Given the description of an element on the screen output the (x, y) to click on. 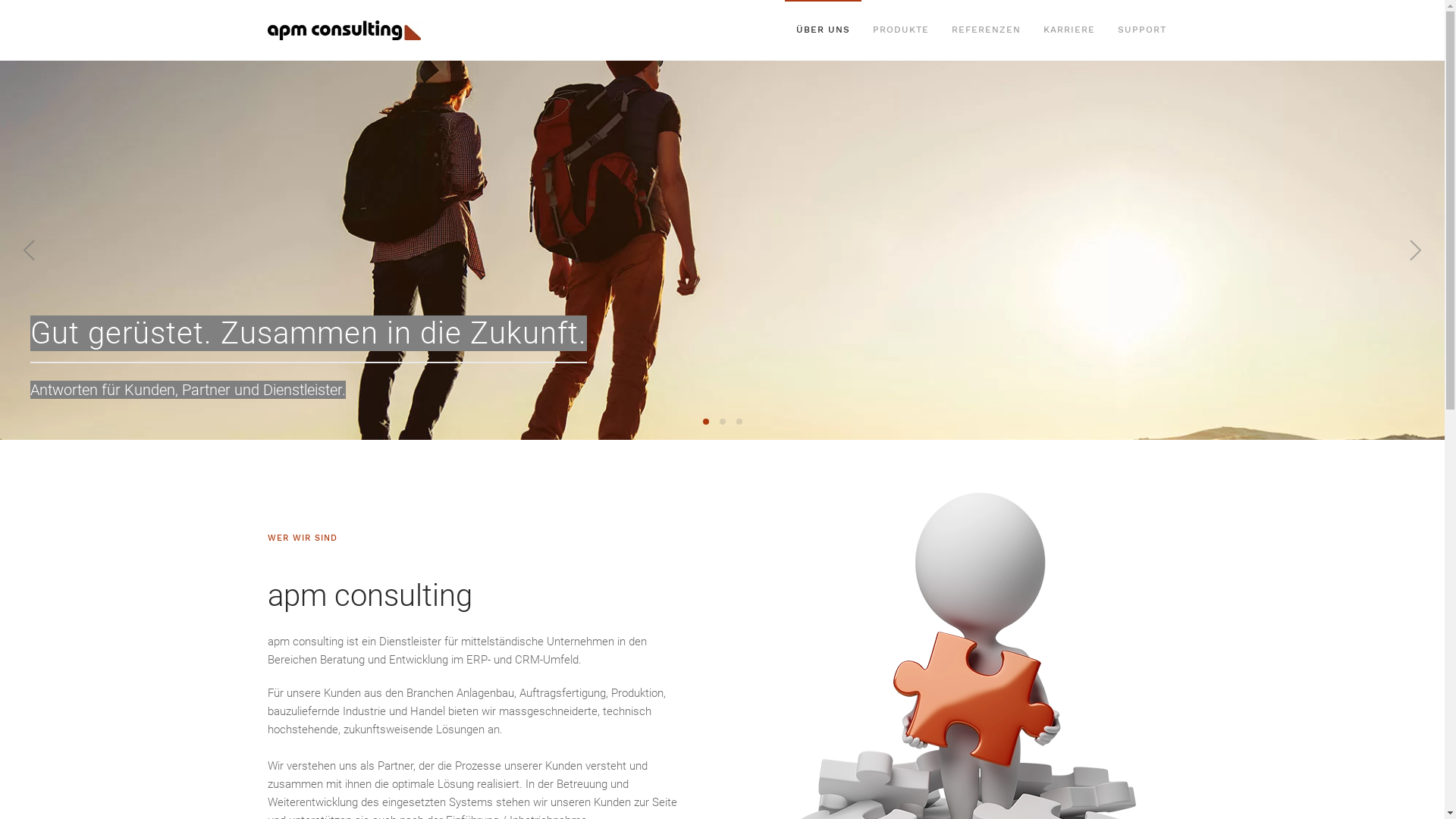
PRODUKTE Element type: text (900, 30)
SUPPORT Element type: text (1140, 30)
REFERENZEN Element type: text (986, 30)
KARRIERE Element type: text (1068, 30)
